Given the description of an element on the screen output the (x, y) to click on. 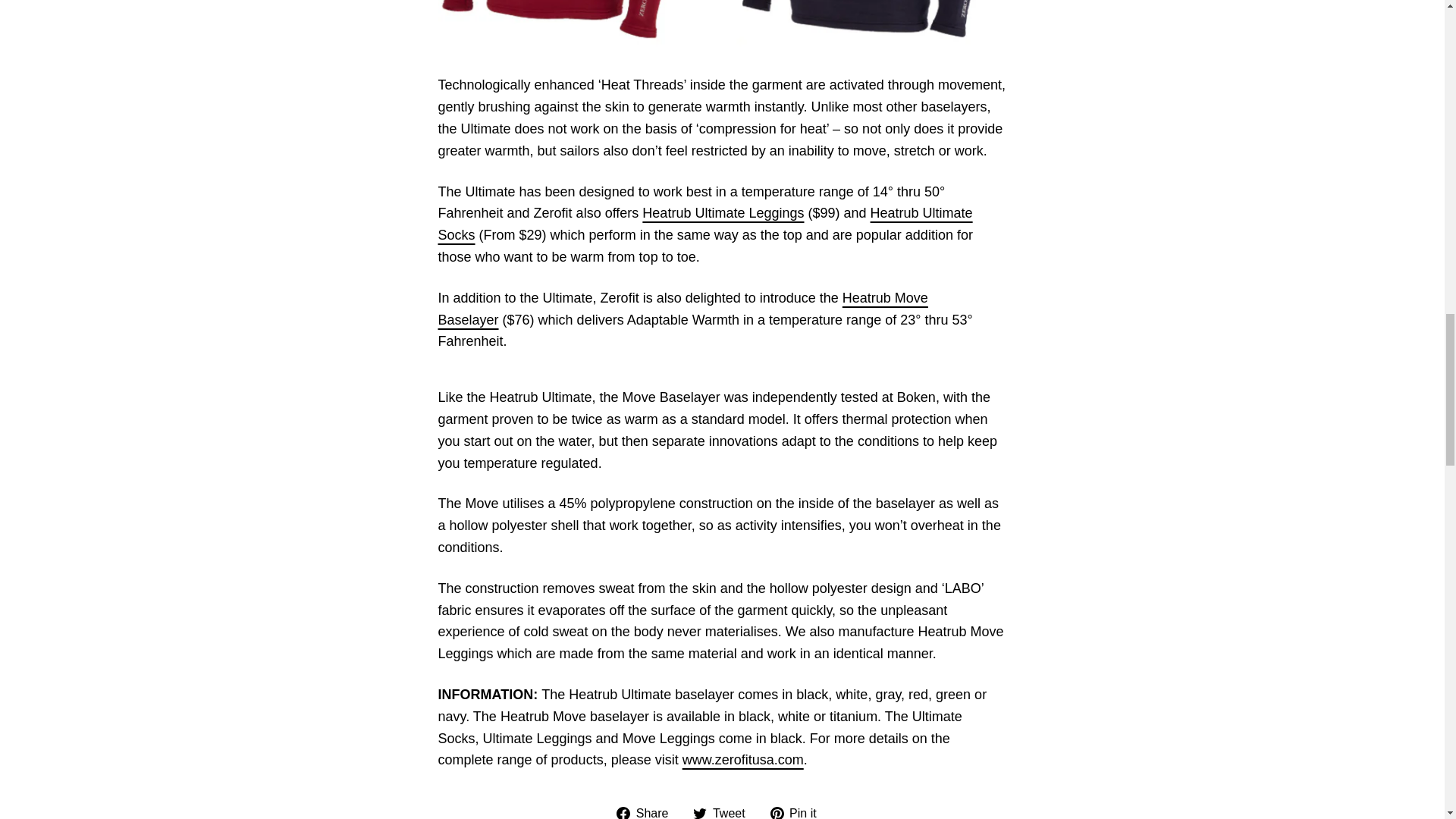
Click to open in new window (742, 759)
Click to open in new window (647, 811)
Click to open in new window (799, 811)
Click to open in new window (724, 811)
